Given the description of an element on the screen output the (x, y) to click on. 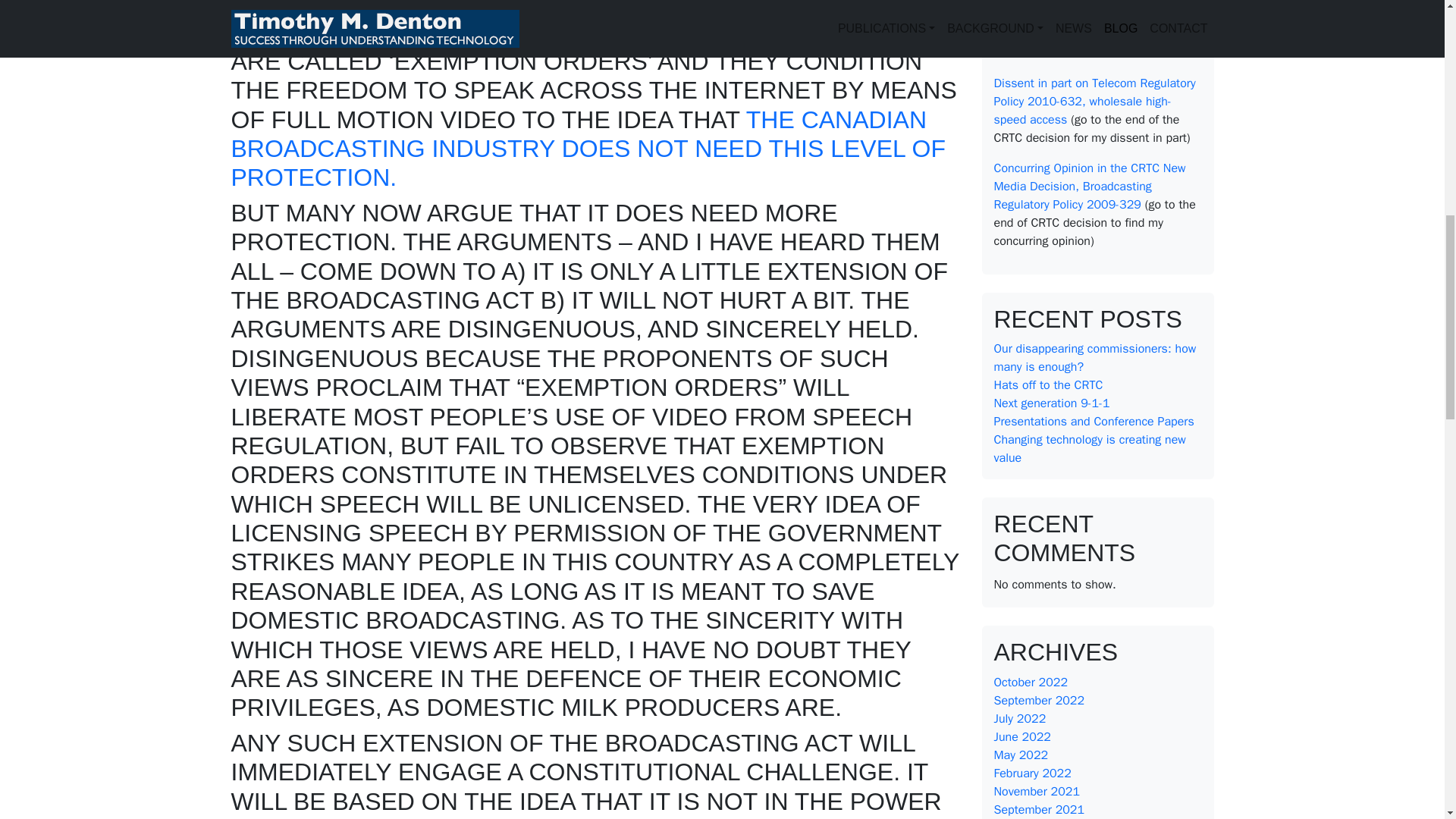
Hats off to the CRTC (1047, 385)
Our disappearing commissioners: how many is enough? (1093, 357)
Presentations and Conference Papers (1092, 421)
Next generation 9-1-1 (1050, 403)
